Given the description of an element on the screen output the (x, y) to click on. 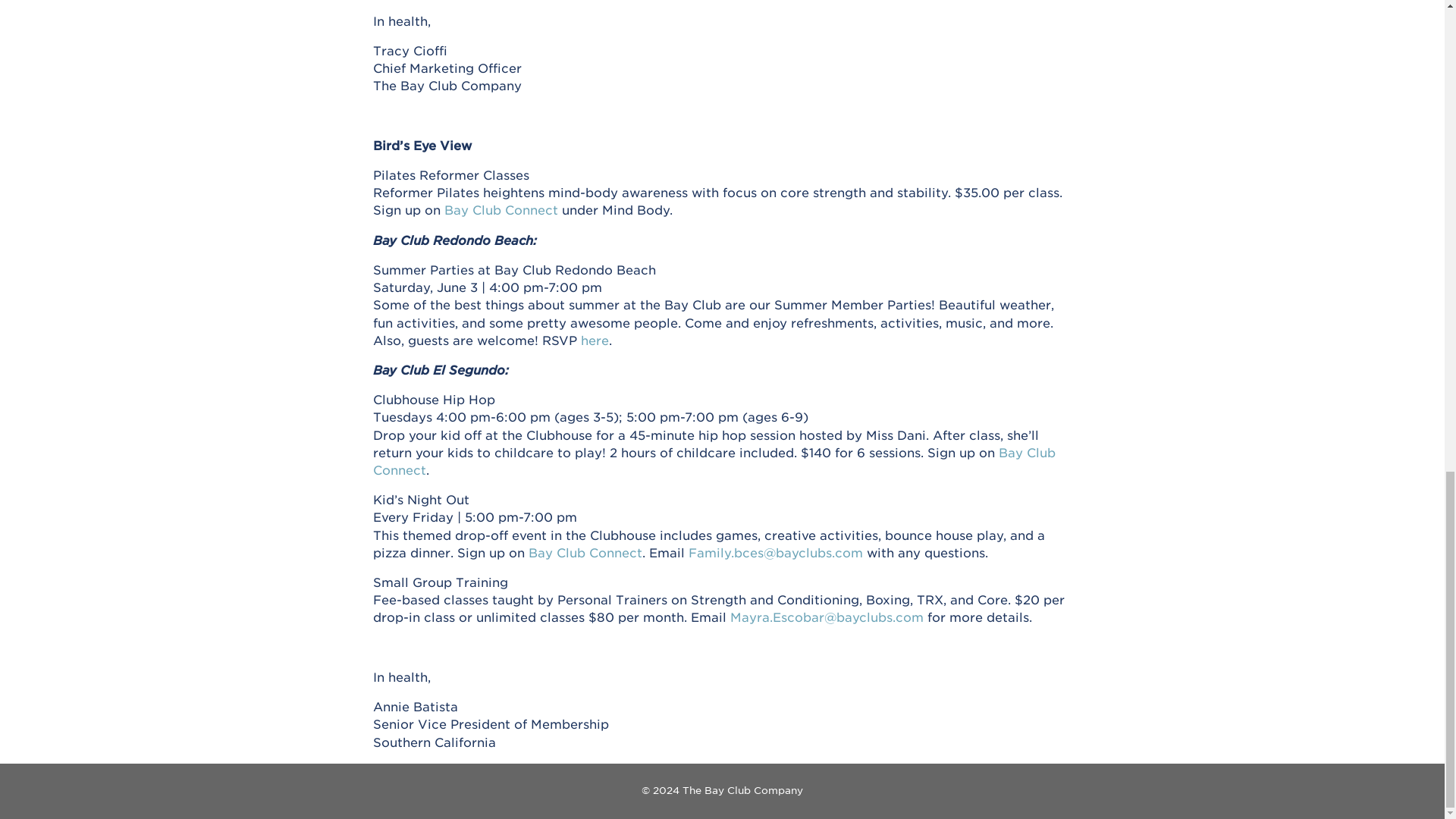
Bay Club Connect (713, 461)
Bay Club Connect (500, 209)
here (594, 340)
Bay Club Connect (585, 552)
